Given the description of an element on the screen output the (x, y) to click on. 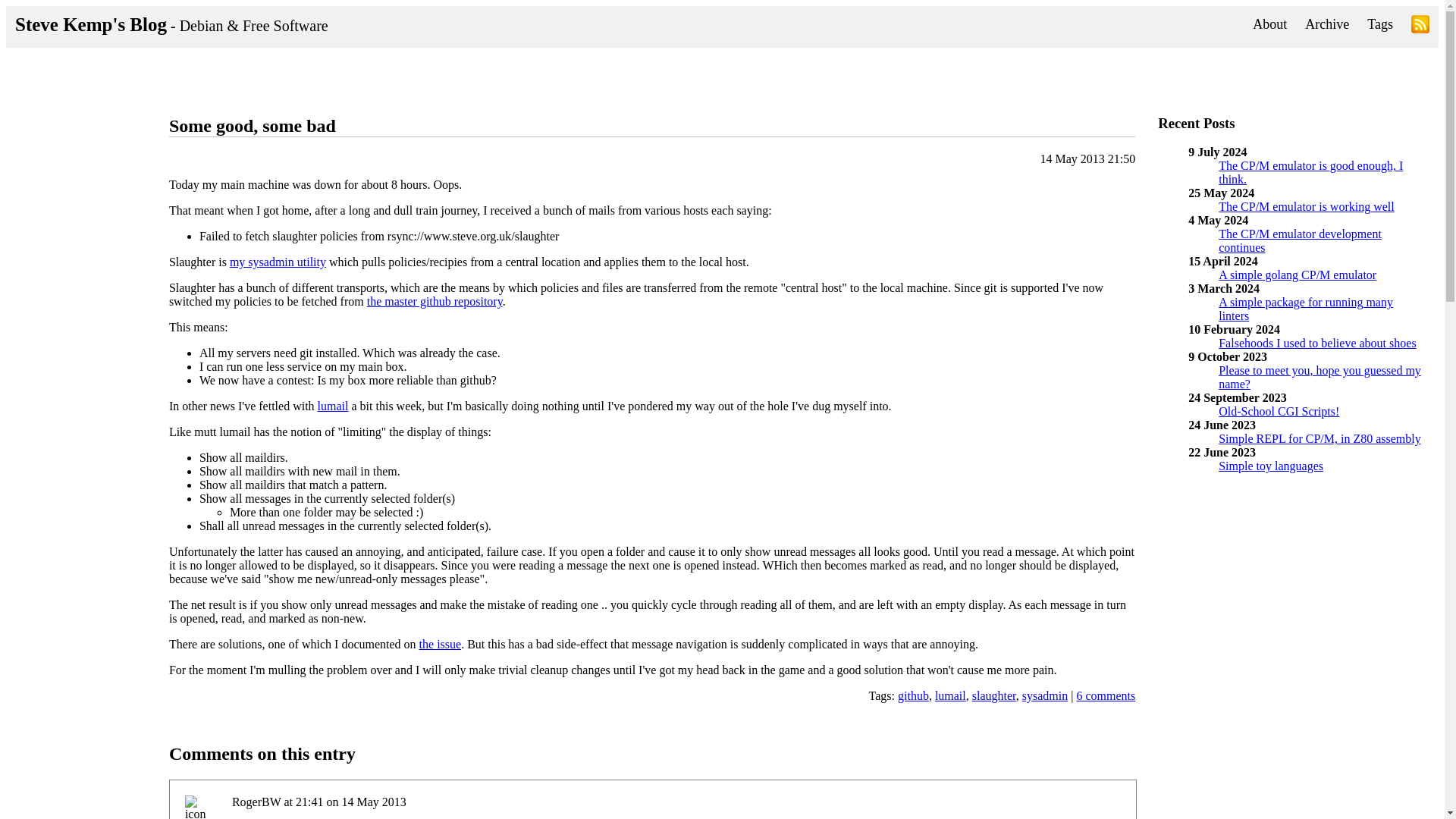
Archive (1326, 24)
sysadmin (1044, 695)
Please to meet you, hope you guessed my name? (1319, 376)
A simple package for running many linters (1305, 308)
lumail (950, 695)
Some good, some bad (252, 125)
About (1269, 24)
github (913, 695)
Old-School CGI Scripts! (1278, 410)
the master github repository (434, 300)
Falsehoods I used to believe about shoes (1316, 342)
my sysadmin utility (278, 261)
lumail (333, 405)
Simple toy languages (1270, 465)
Tags (1380, 24)
